Given the description of an element on the screen output the (x, y) to click on. 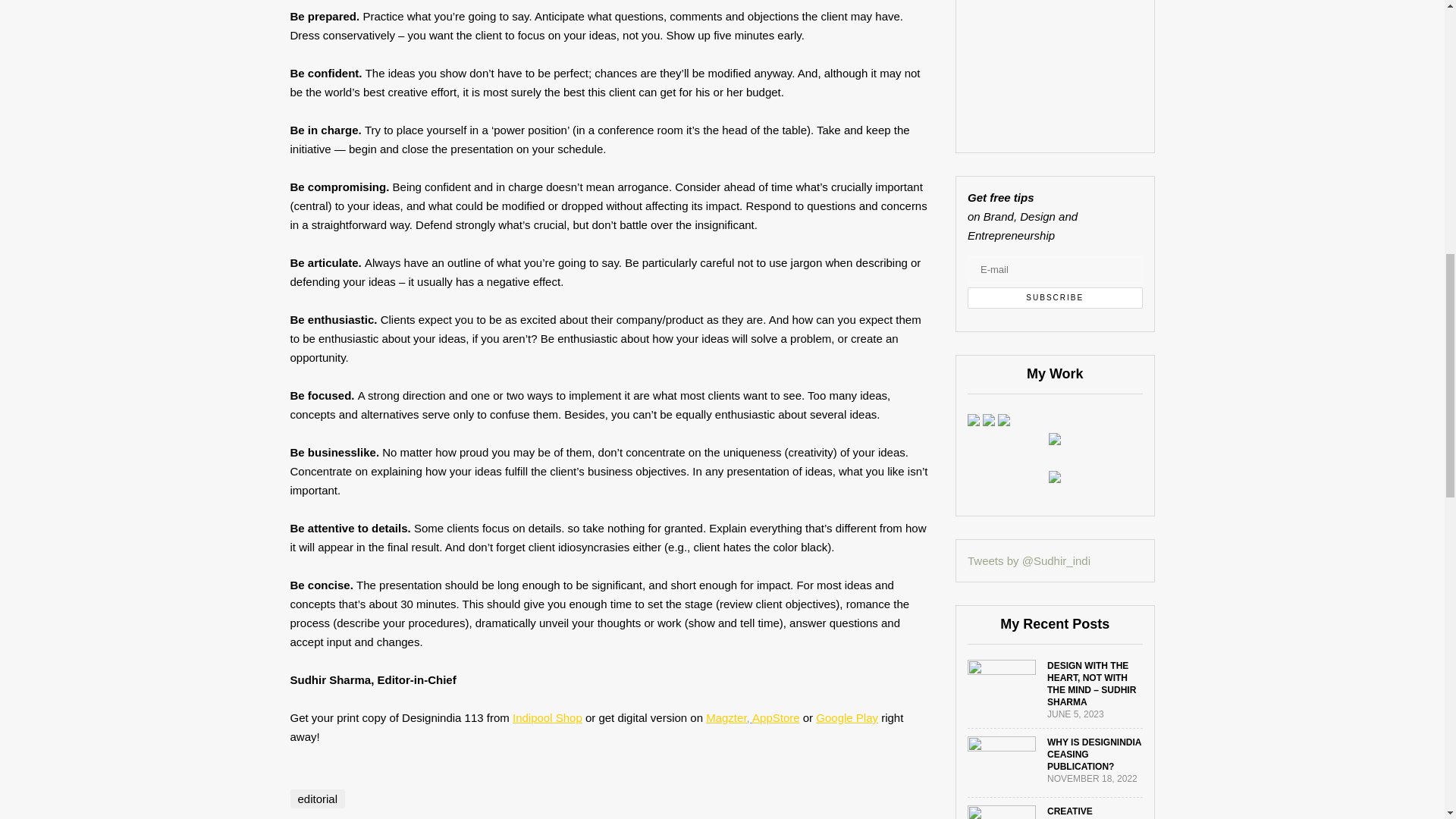
Magzter, (729, 717)
Subscribe (1055, 297)
AppStore (775, 717)
Indipool Shop (547, 717)
editorial (317, 798)
Google Play (846, 717)
